Given the description of an element on the screen output the (x, y) to click on. 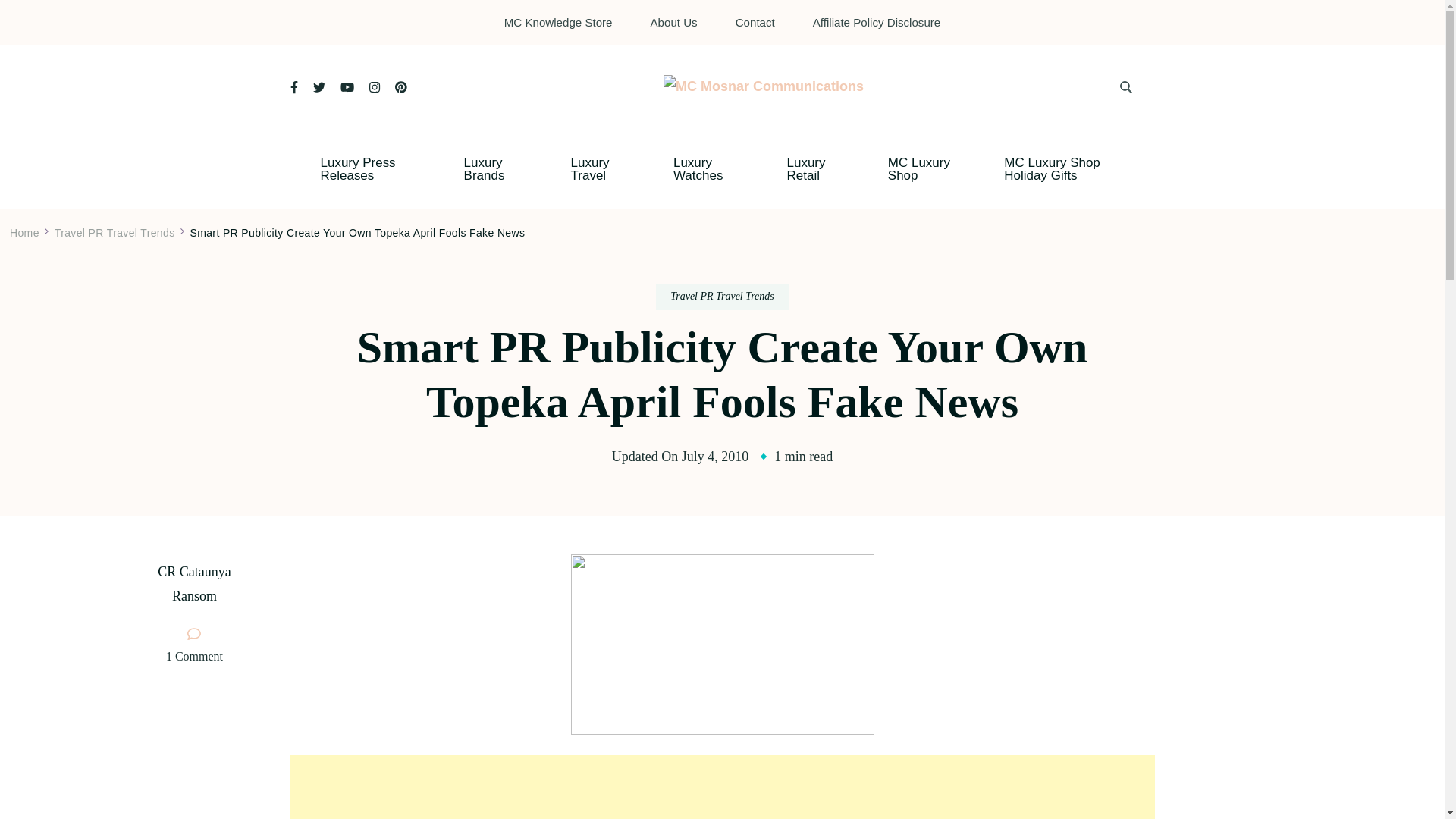
Contact (754, 21)
MC Luxury Shop Holiday Gifts (1067, 168)
Luxury Press Releases (368, 168)
MC Knowledge Store (557, 21)
MC Luxury Shop (923, 168)
Luxury Travel (598, 168)
Advertisement (721, 787)
Luxury Retail (815, 168)
Affiliate Policy Disclosure (876, 21)
About Us (673, 21)
